Given the description of an element on the screen output the (x, y) to click on. 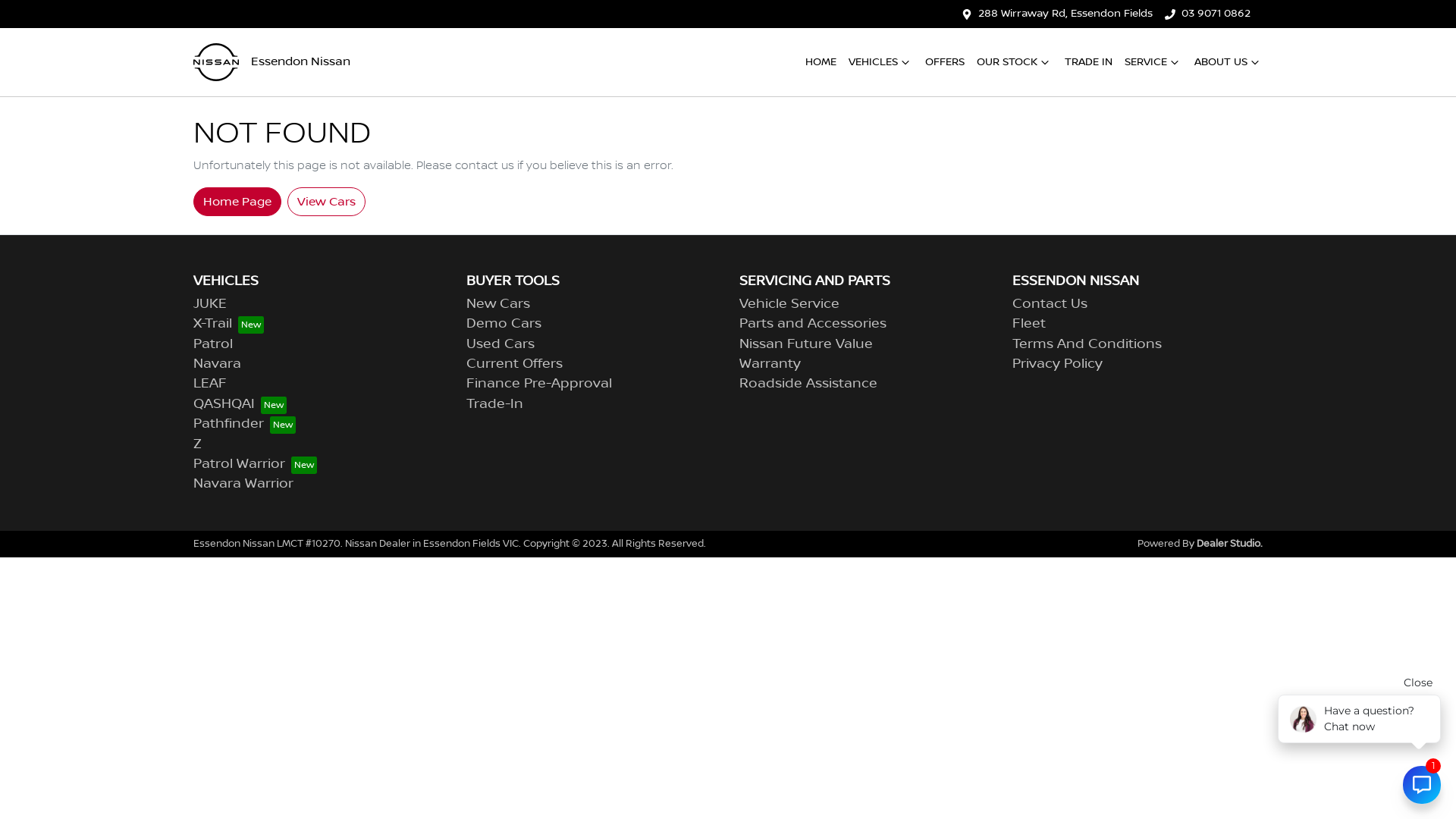
Trade-In Element type: text (494, 403)
QASHQAI Element type: text (239, 403)
Parts and Accessories Element type: text (812, 323)
Current Offers Element type: text (514, 363)
Demo Cars Element type: text (503, 323)
OFFERS Element type: text (944, 62)
Vehicle Service Element type: text (789, 303)
VEHICLES Element type: text (880, 62)
New Cars Element type: text (498, 303)
Patrol Warrior Element type: text (254, 463)
Nissan Future Value Element type: text (805, 343)
X-Trail Element type: text (228, 323)
OUR STOCK Element type: text (1014, 62)
Pathfinder Element type: text (244, 423)
HOME Element type: text (820, 62)
Essendon Nissan Element type: text (271, 62)
Z Element type: text (197, 444)
ABOUT US Element type: text (1228, 62)
SERVICE Element type: text (1153, 62)
288 Wirraway Rd, Essendon Fields Element type: text (1065, 13)
Navara Warrior Element type: text (243, 483)
Privacy Policy Element type: text (1057, 363)
Warranty Element type: text (769, 363)
Used Cars Element type: text (500, 343)
Fleet Element type: text (1028, 323)
Navara Element type: text (217, 363)
LEAF Element type: text (209, 383)
03 9071 0862 Element type: text (1215, 13)
Terms And Conditions Element type: text (1086, 343)
Contact Us Element type: text (1049, 303)
Patrol Element type: text (212, 343)
Finance Pre-Approval Element type: text (538, 383)
Roadside Assistance Element type: text (808, 383)
TRADE IN Element type: text (1088, 62)
JUKE Element type: text (209, 303)
Home Page Element type: text (237, 200)
Dealer Studio. Element type: text (1229, 543)
View Cars Element type: text (326, 200)
